Given the description of an element on the screen output the (x, y) to click on. 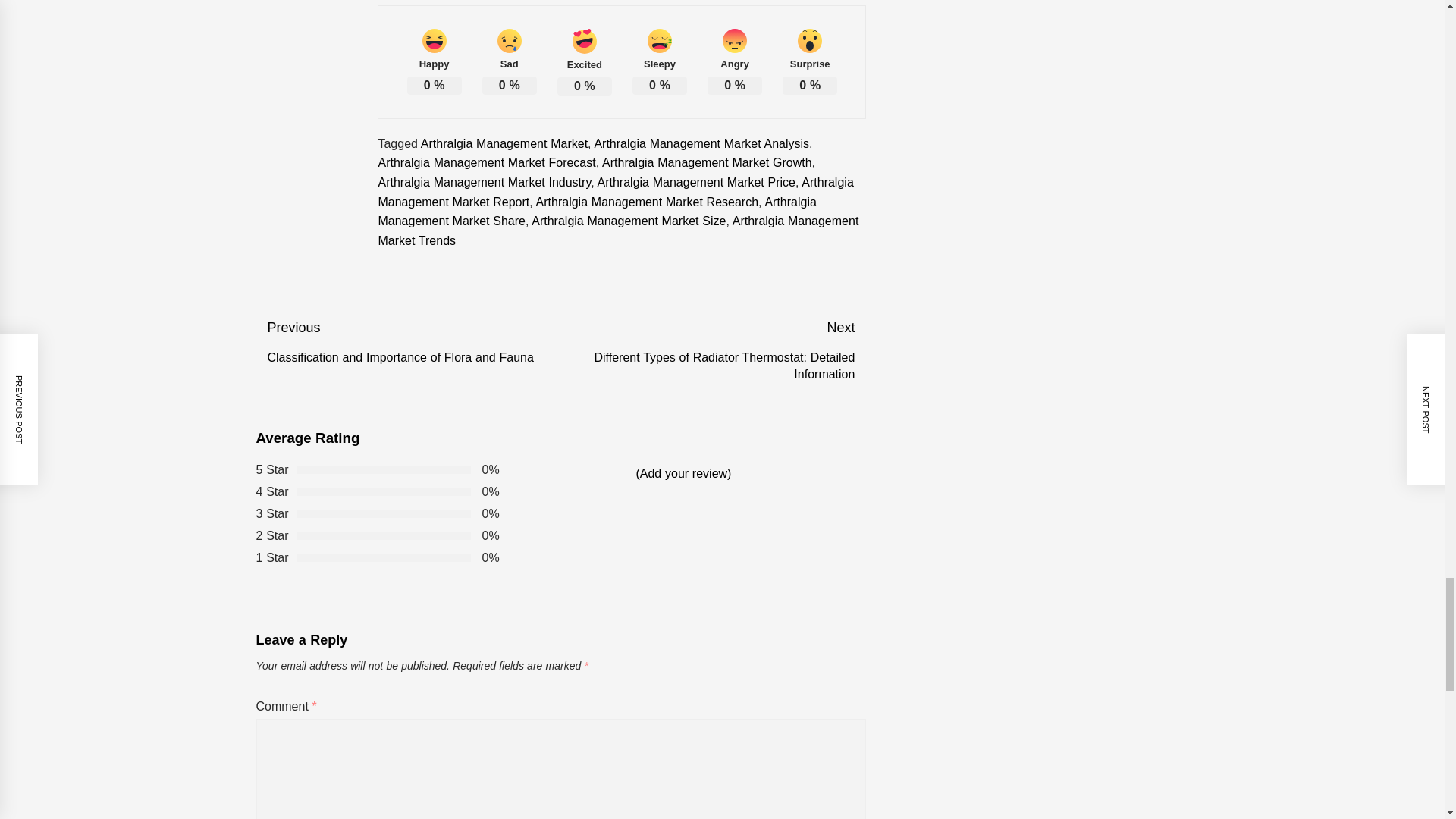
Arthralgia Management Market Growth (707, 162)
Arthralgia Management Market Analysis (701, 143)
Arthralgia Management Market Forecast (486, 162)
Arthralgia Management Market (504, 143)
